Given the description of an element on the screen output the (x, y) to click on. 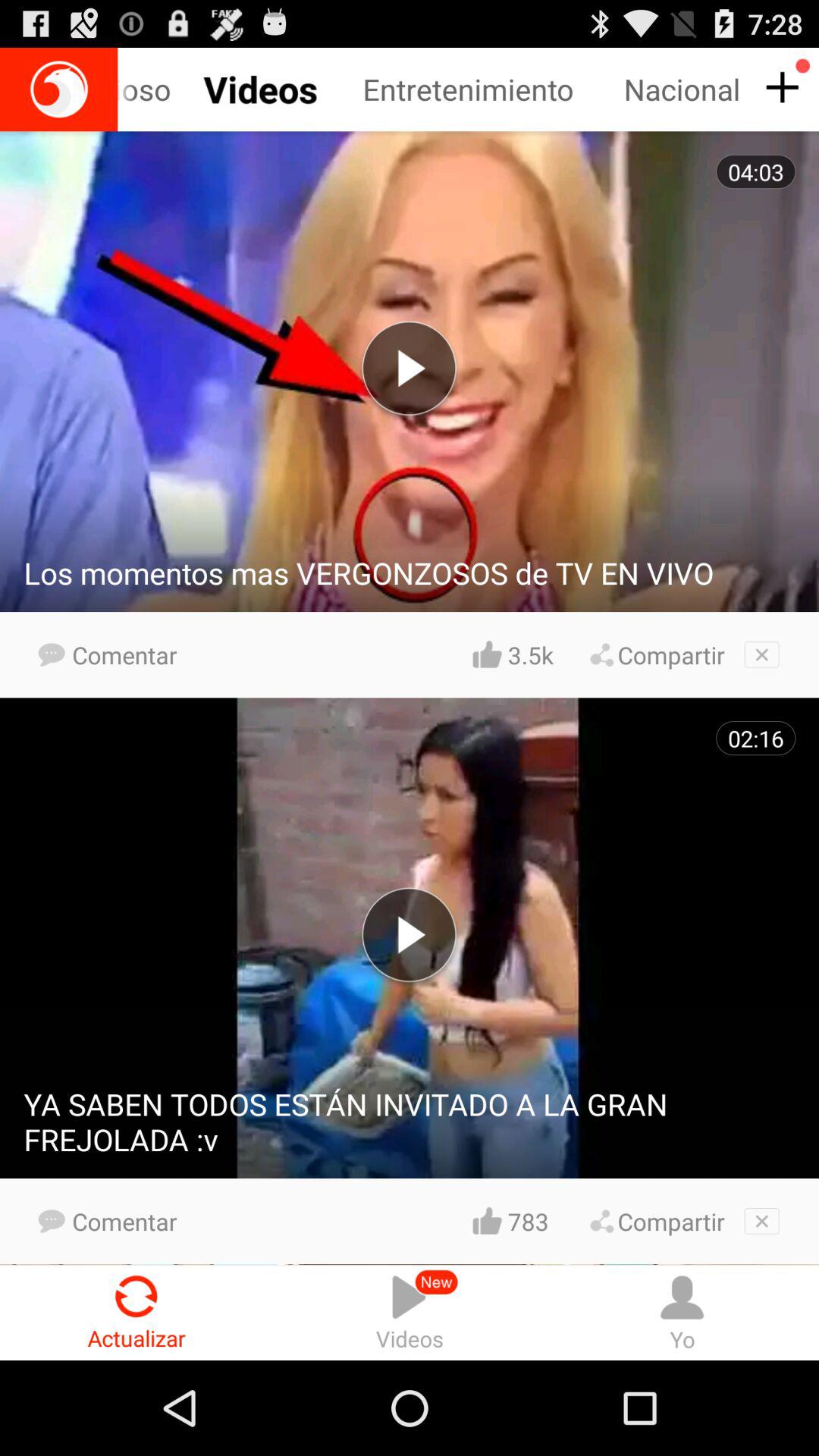
close this video (761, 654)
